Given the description of an element on the screen output the (x, y) to click on. 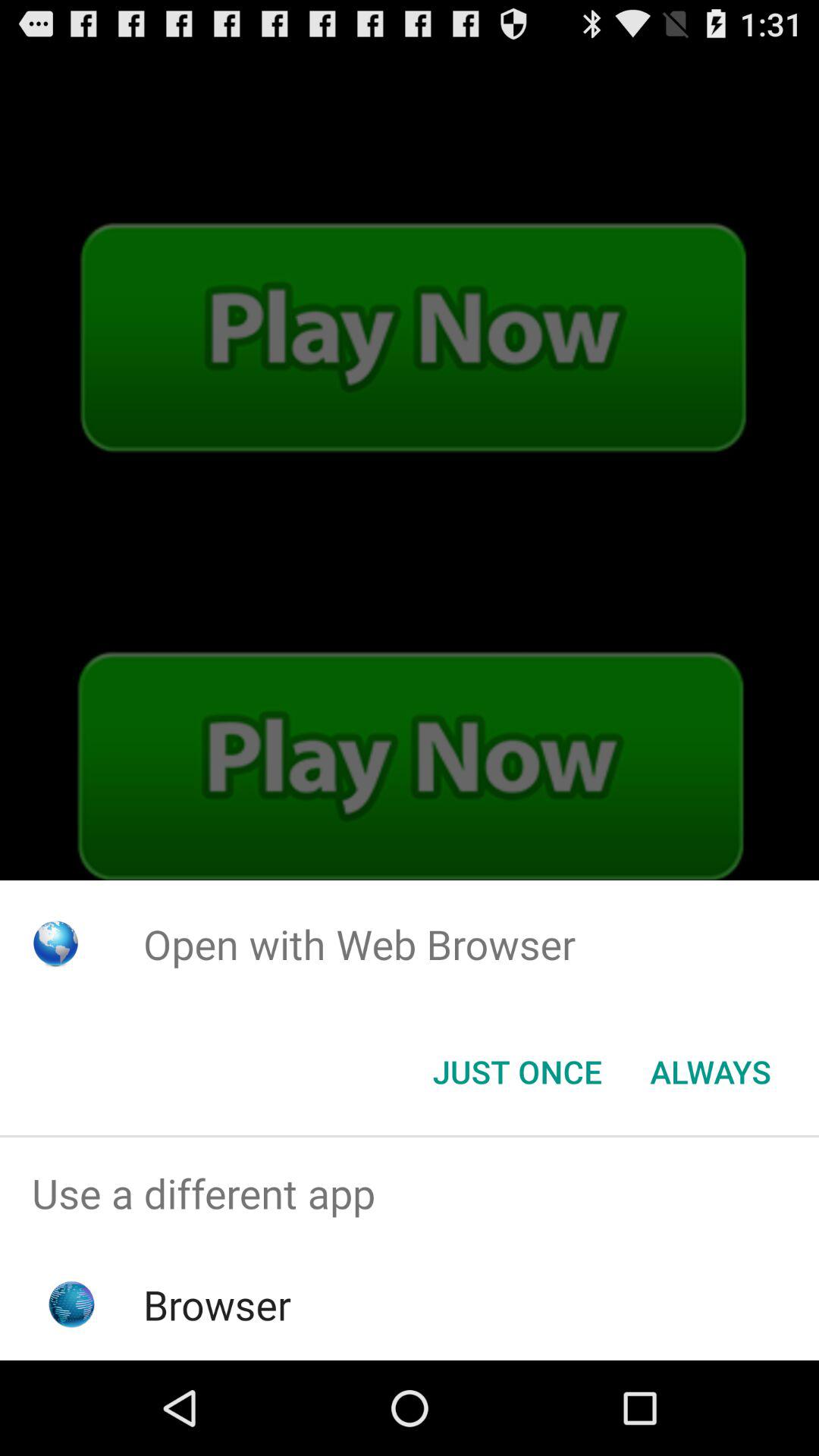
tap the item at the bottom right corner (710, 1071)
